Given the description of an element on the screen output the (x, y) to click on. 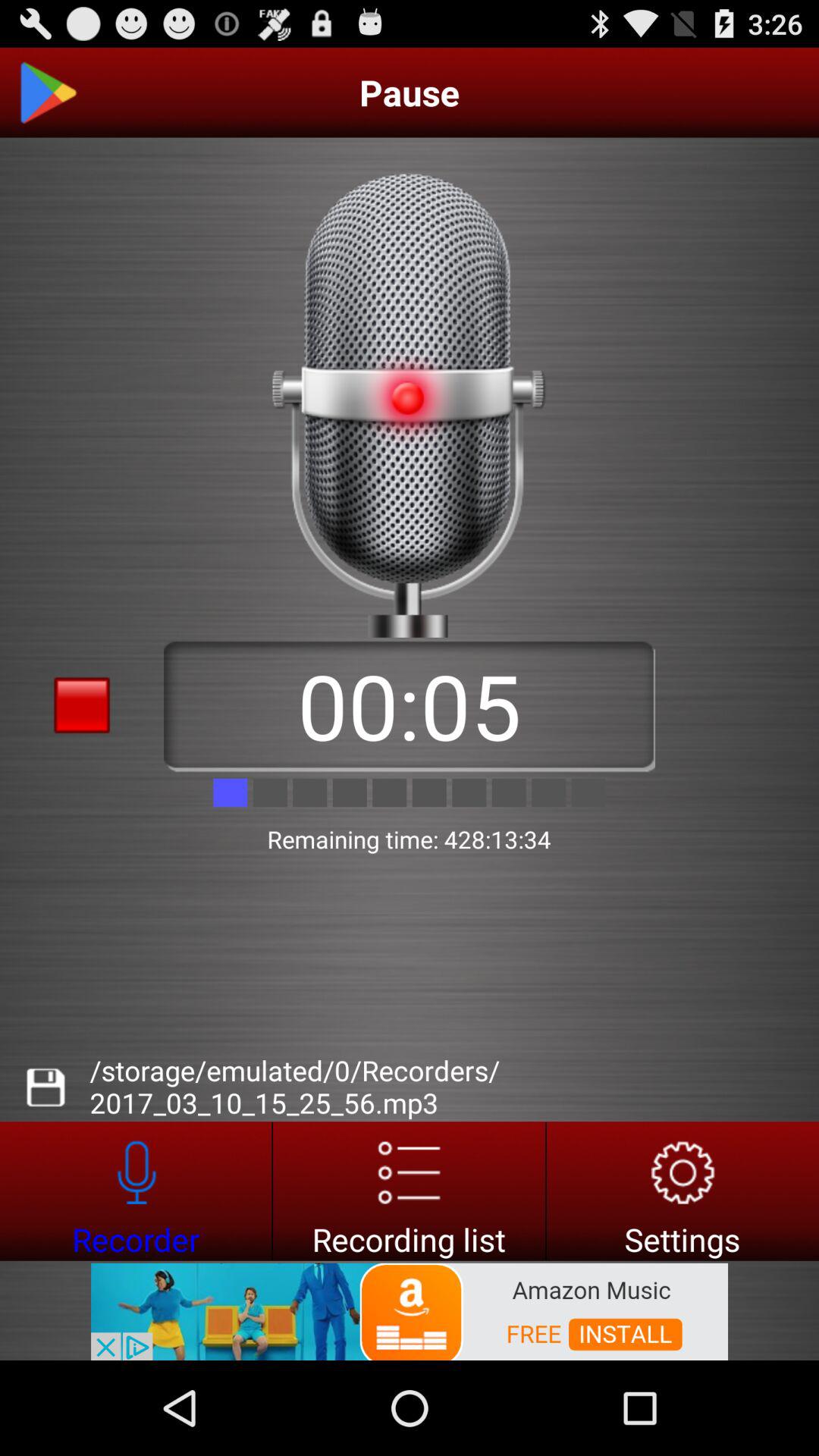
open recording list (409, 1190)
